Given the description of an element on the screen output the (x, y) to click on. 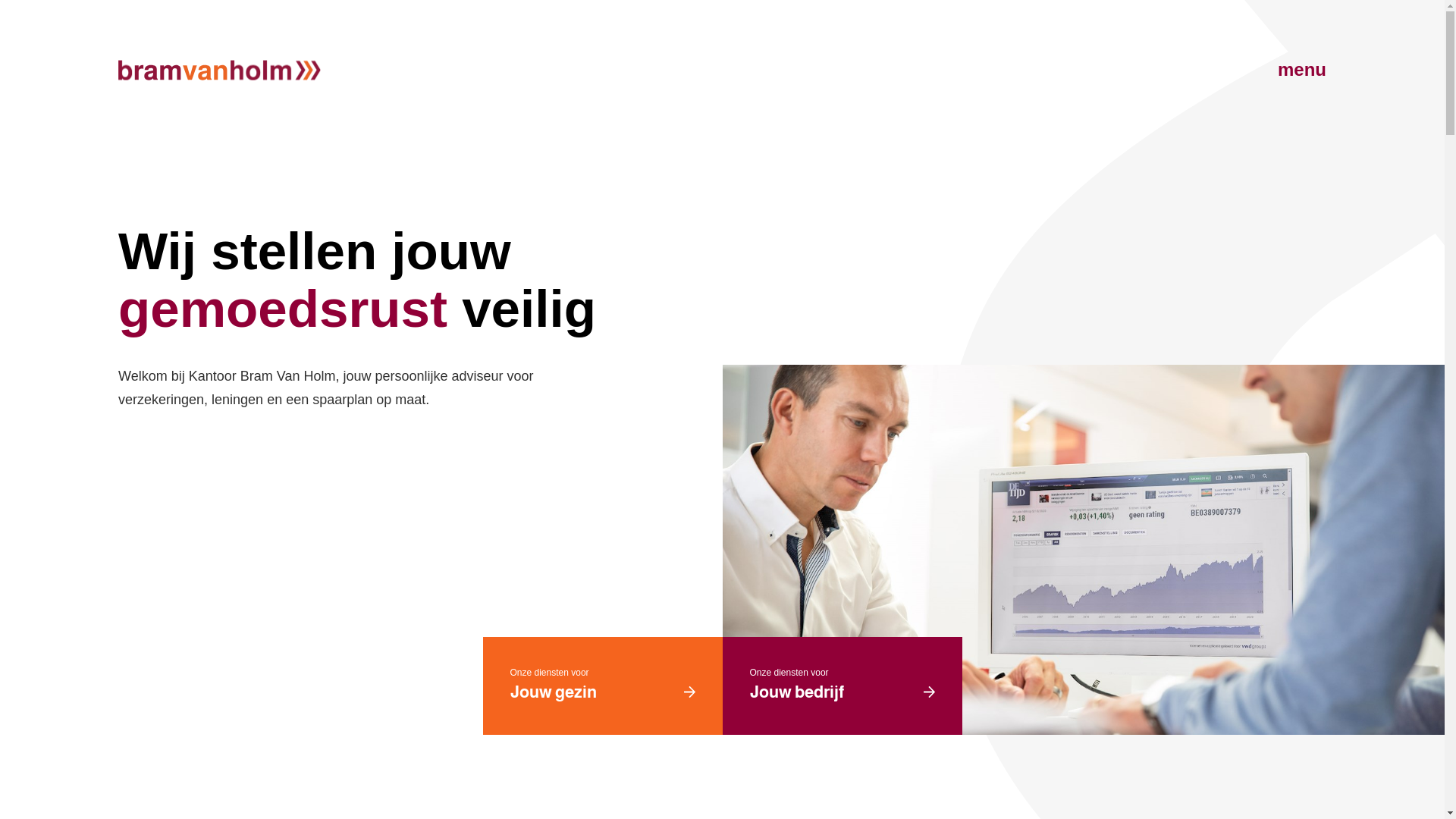
menu Element type: text (1296, 69)
Onze diensten voor
Jouw bedrijf Element type: text (841, 686)
Onze diensten voor
Jouw gezin Element type: text (601, 686)
